Given the description of an element on the screen output the (x, y) to click on. 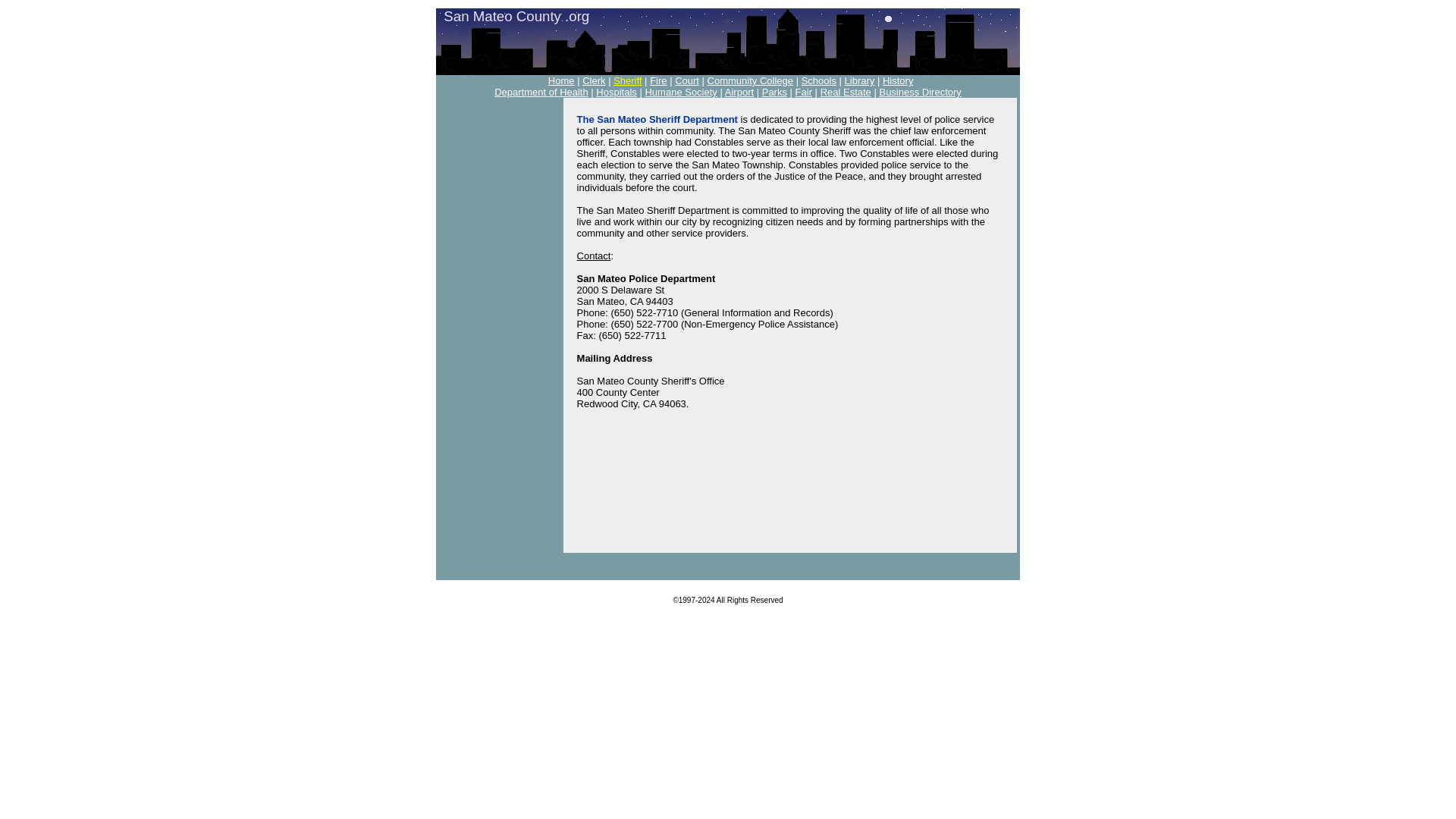
Clerk (593, 80)
Library (859, 80)
Court (686, 80)
Parks (774, 91)
Hospitals (615, 91)
Department of Health (541, 91)
Sheriff (627, 80)
Home (561, 80)
History (897, 80)
Business Directory (919, 91)
